Given the description of an element on the screen output the (x, y) to click on. 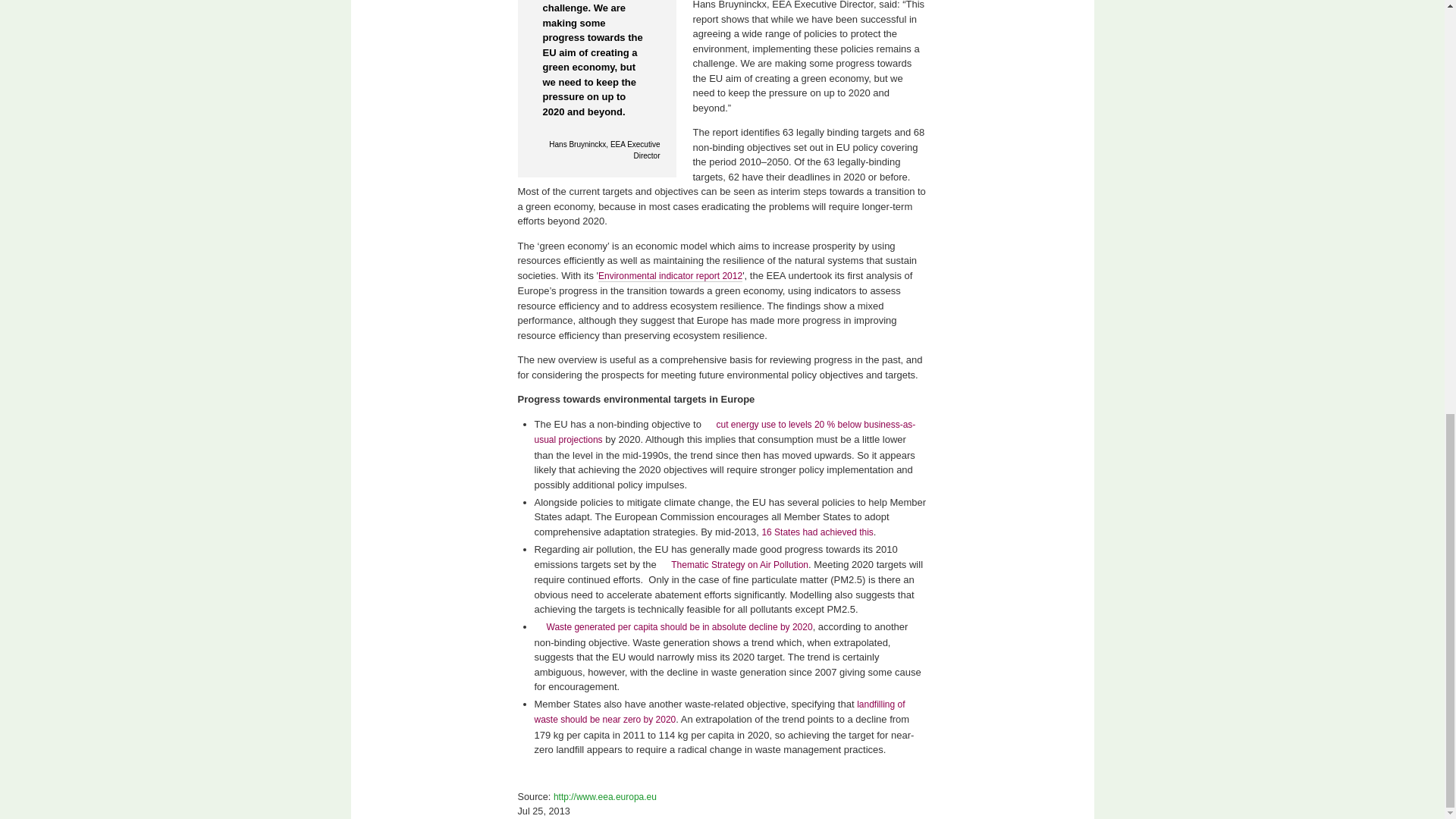
16 States had achieved this (816, 531)
landfilling of waste should be near zero by 2020 (719, 712)
Environmental indicator report 2012 (670, 276)
Thematic Strategy on Air Pollution (733, 563)
